Given the description of an element on the screen output the (x, y) to click on. 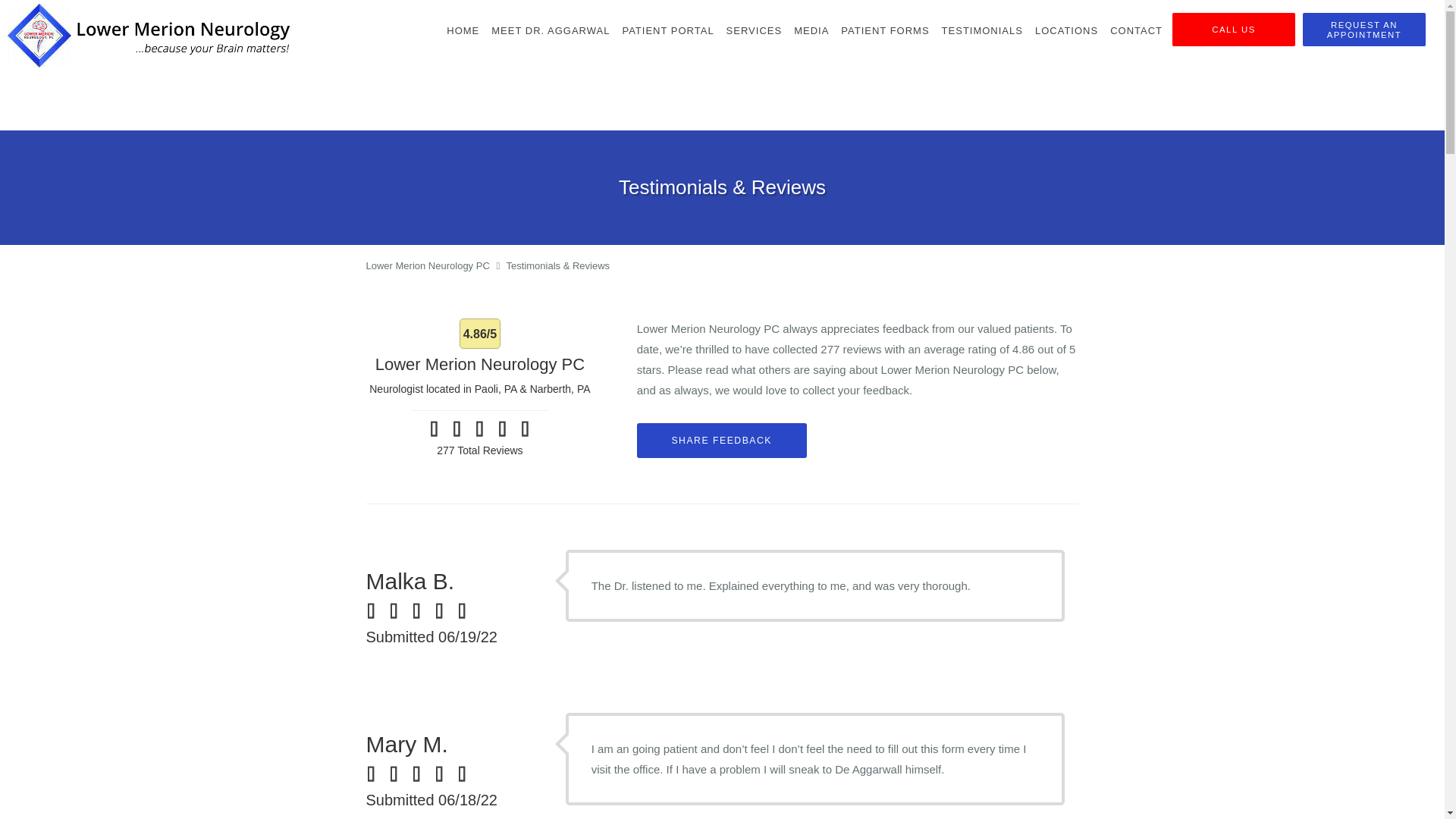
Star Rating (422, 610)
PATIENT PORTAL (667, 30)
Star Rating (434, 428)
Share Feedback (721, 440)
Star Rating (456, 428)
Star Rating (444, 610)
Star Rating (376, 610)
Star Rating (525, 428)
Skip to main content (74, 7)
Star Rating (399, 610)
